Given the description of an element on the screen output the (x, y) to click on. 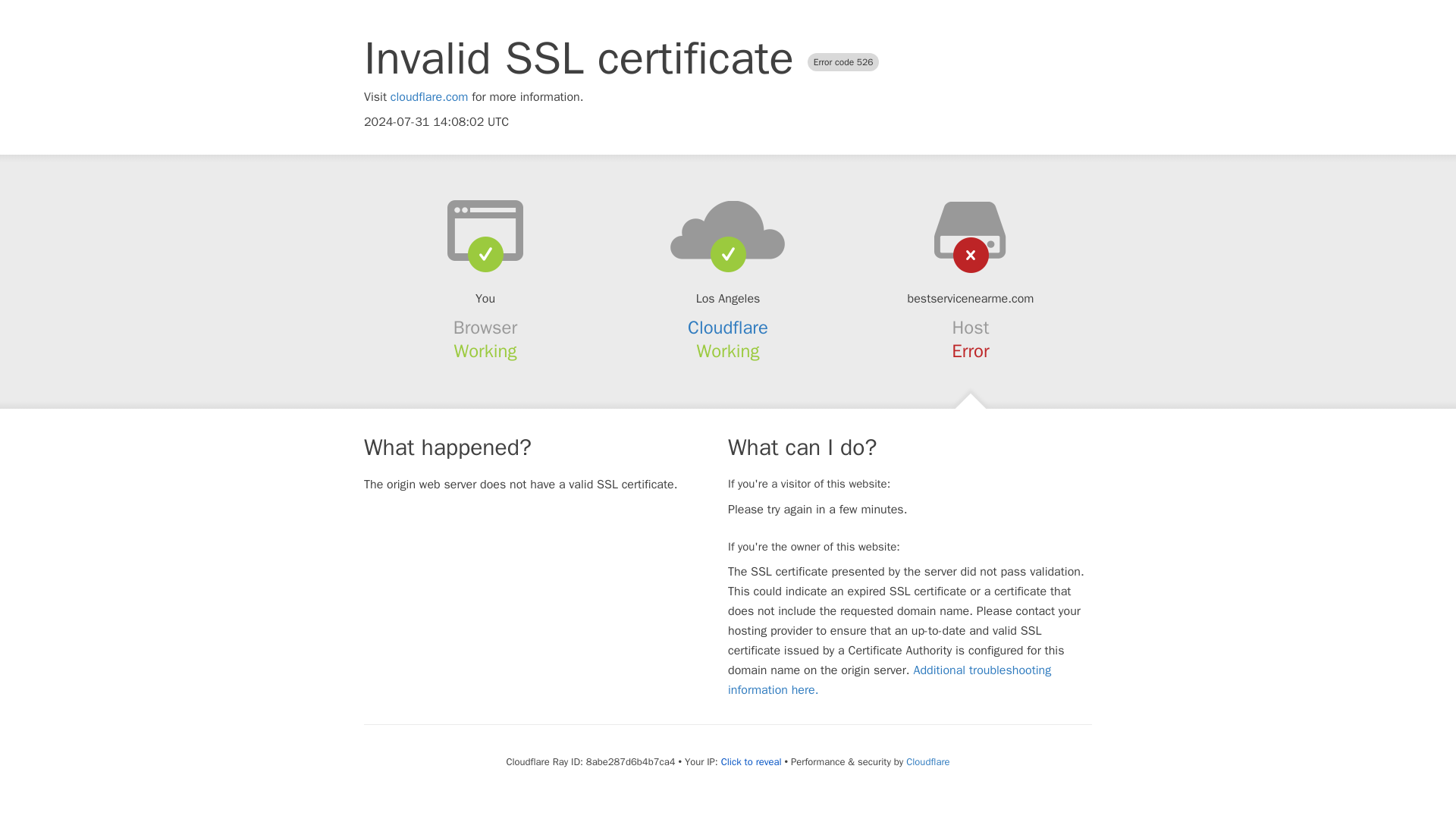
Cloudflare (927, 761)
Click to reveal (750, 762)
Additional troubleshooting information here. (889, 679)
Cloudflare (727, 327)
cloudflare.com (429, 96)
